Given the description of an element on the screen output the (x, y) to click on. 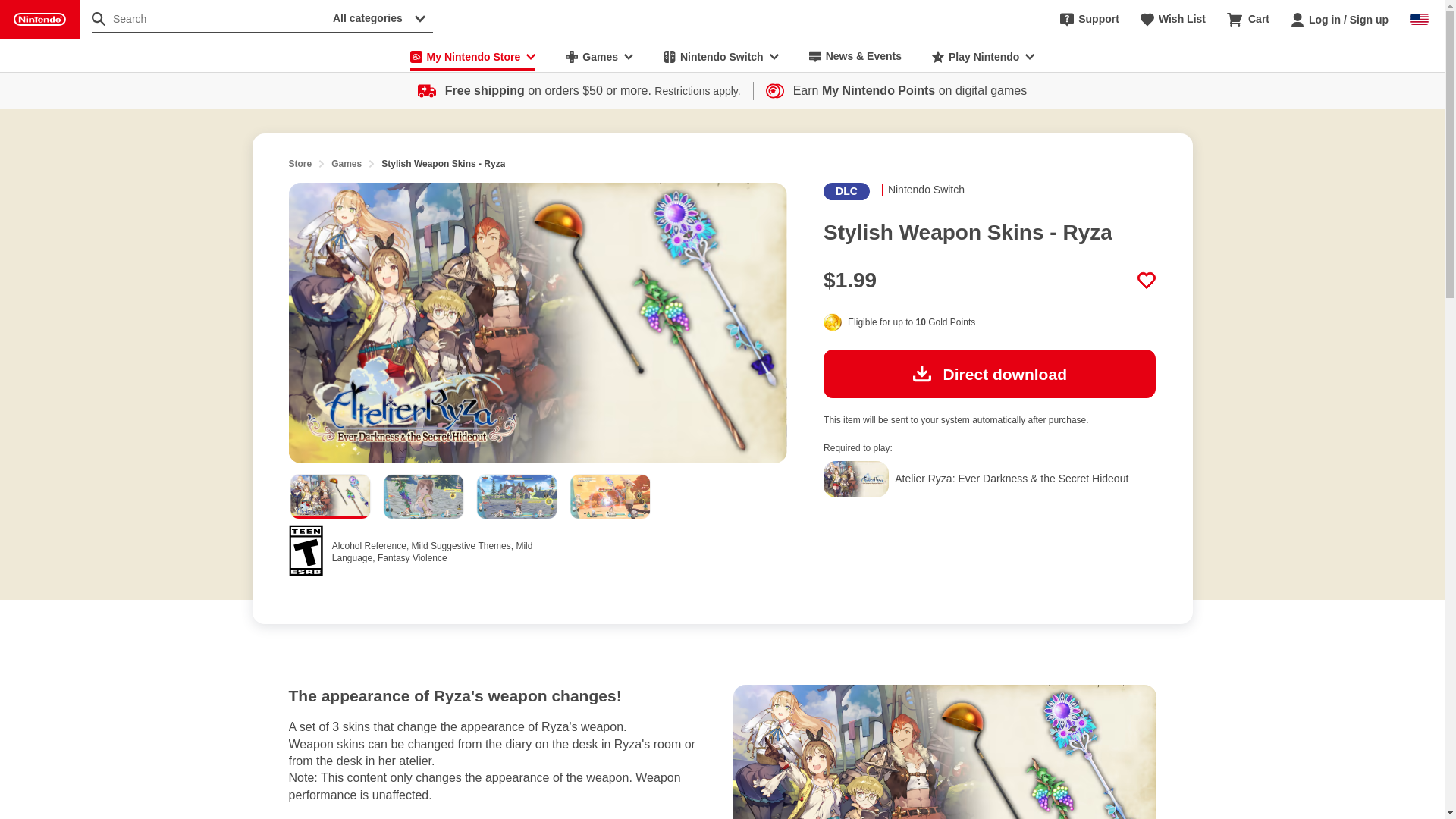
Search (208, 18)
Support (1089, 19)
Cart (1248, 19)
My Nintendo Store (472, 56)
Nintendo (40, 19)
Wish List (1172, 19)
Nintendo Switch (720, 56)
Add to Wish List (1146, 280)
Play Nintendo (983, 56)
Games (599, 56)
